Given the description of an element on the screen output the (x, y) to click on. 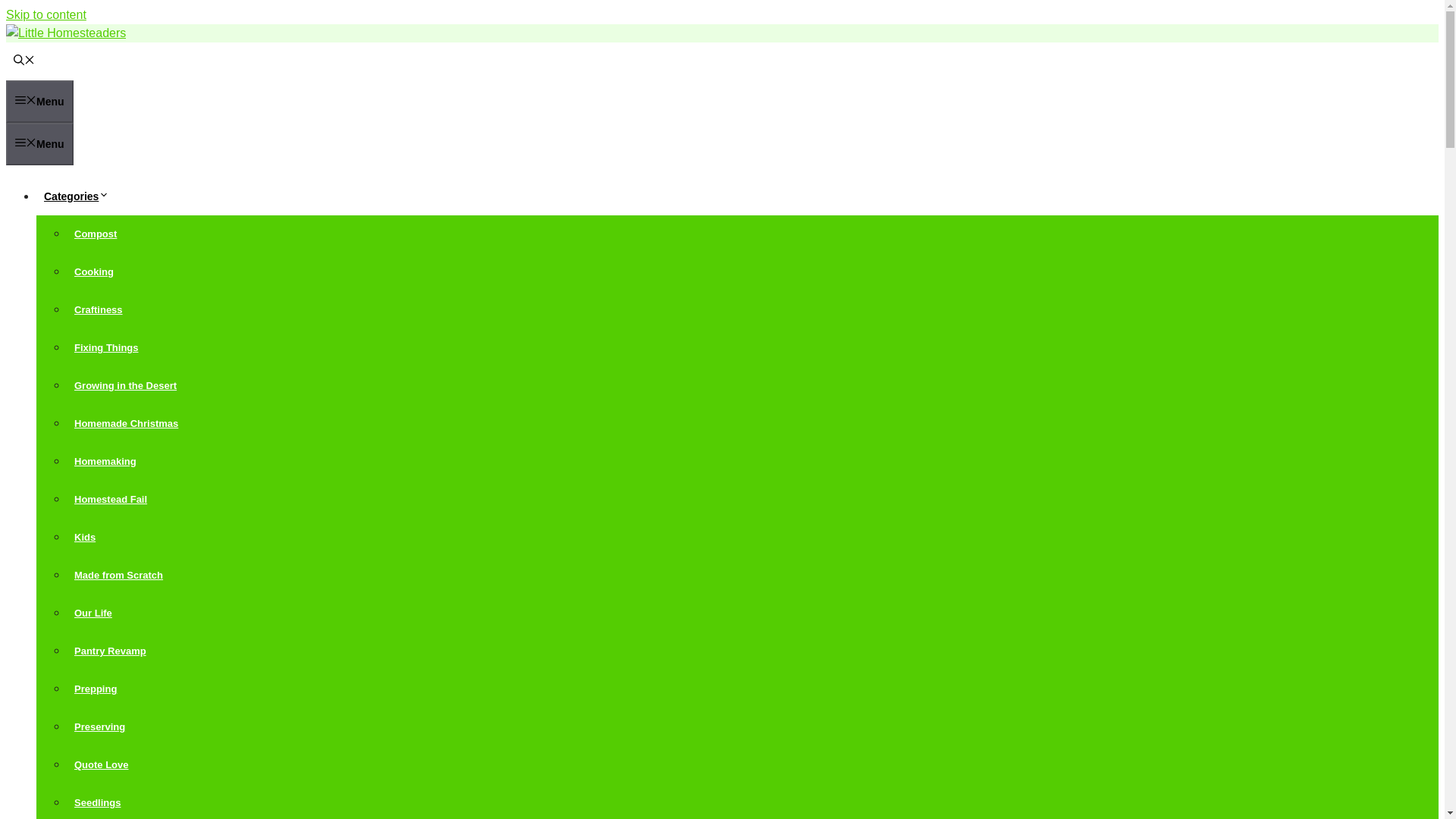
Homemade Christmas (126, 423)
Seedlings (97, 802)
Cooking (93, 271)
Growing in the Desert (125, 385)
Pantry Revamp (110, 651)
Skip to content (45, 14)
Preserving (99, 726)
Craftiness (98, 309)
Made from Scratch (118, 574)
Skip to content (45, 14)
Prepping (94, 688)
Kids (84, 537)
Homemaking (105, 461)
Fixing Things (106, 347)
Our Life (92, 612)
